Given the description of an element on the screen output the (x, y) to click on. 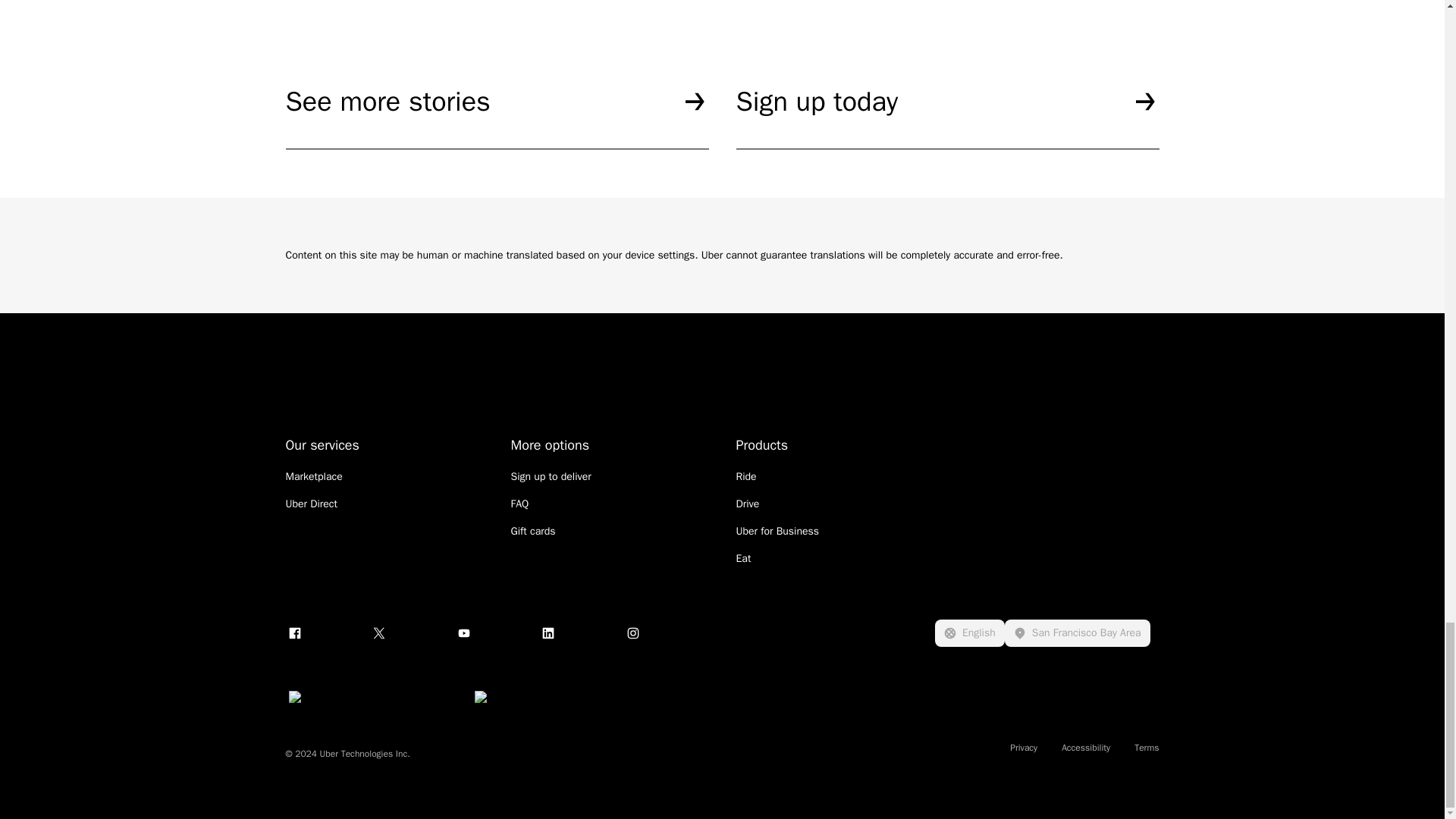
Accessibility (1085, 747)
Sign up to deliver (551, 476)
Privacy (1023, 747)
Uber for Business (776, 530)
Eat (743, 557)
Ride (745, 476)
See more stories (496, 117)
Terms (1146, 747)
Marketplace (313, 476)
Drive (746, 503)
Sign up today (946, 117)
Uber Direct (311, 503)
English (969, 632)
San Francisco Bay Area (1077, 632)
FAQ (520, 503)
